Given the description of an element on the screen output the (x, y) to click on. 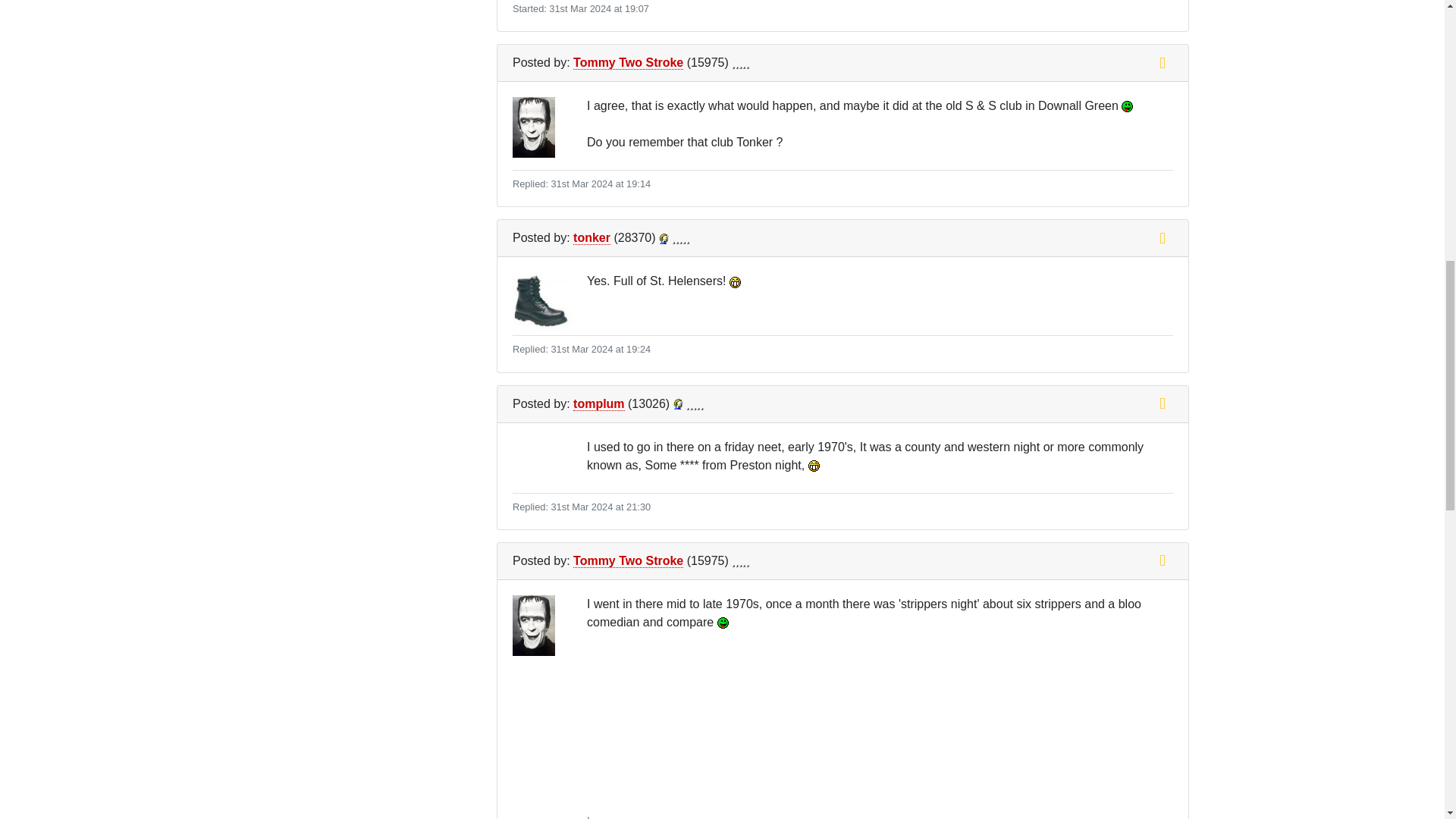
View tomplum's page (677, 403)
Tommy Two Stroke (627, 561)
tomplum (598, 404)
Tommy Two Stroke (627, 62)
tonker (591, 237)
View tonker's page (663, 238)
